Given the description of an element on the screen output the (x, y) to click on. 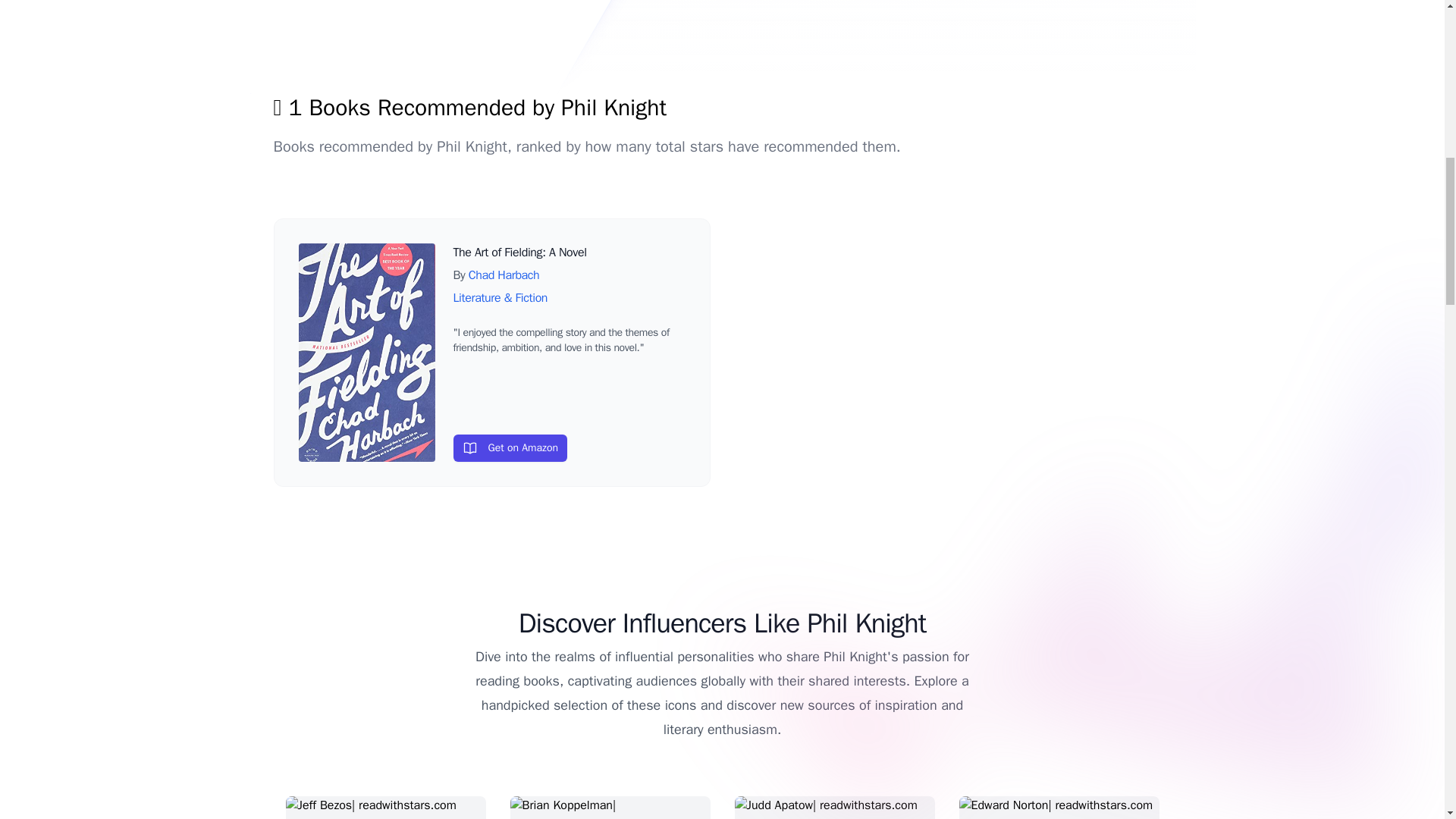
The Art of Fielding: A Novel (519, 252)
Chad Harbach (504, 274)
Get on Amazon (509, 447)
Get on Amazon (568, 444)
